Given the description of an element on the screen output the (x, y) to click on. 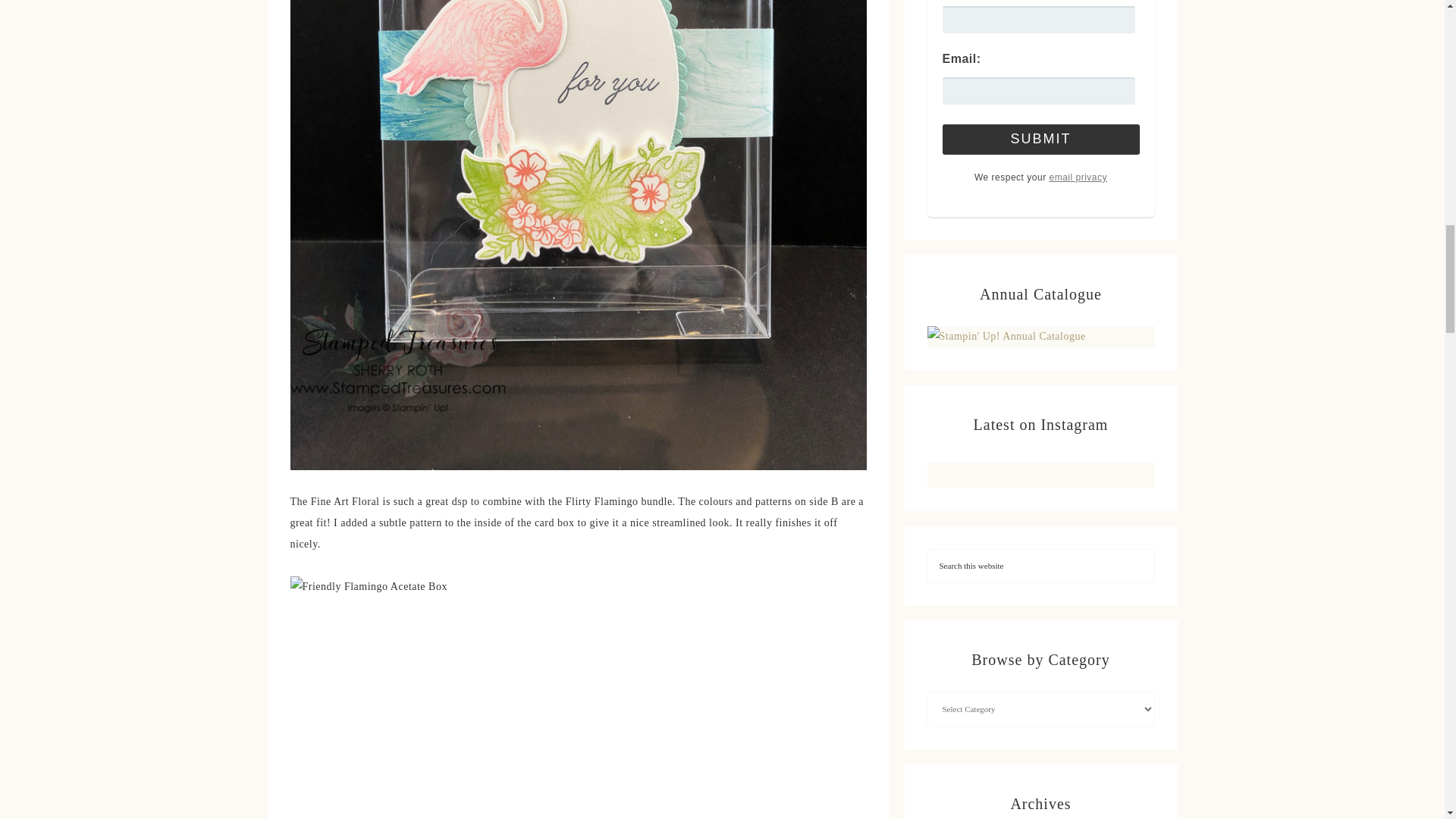
Submit (1040, 139)
